Given the description of an element on the screen output the (x, y) to click on. 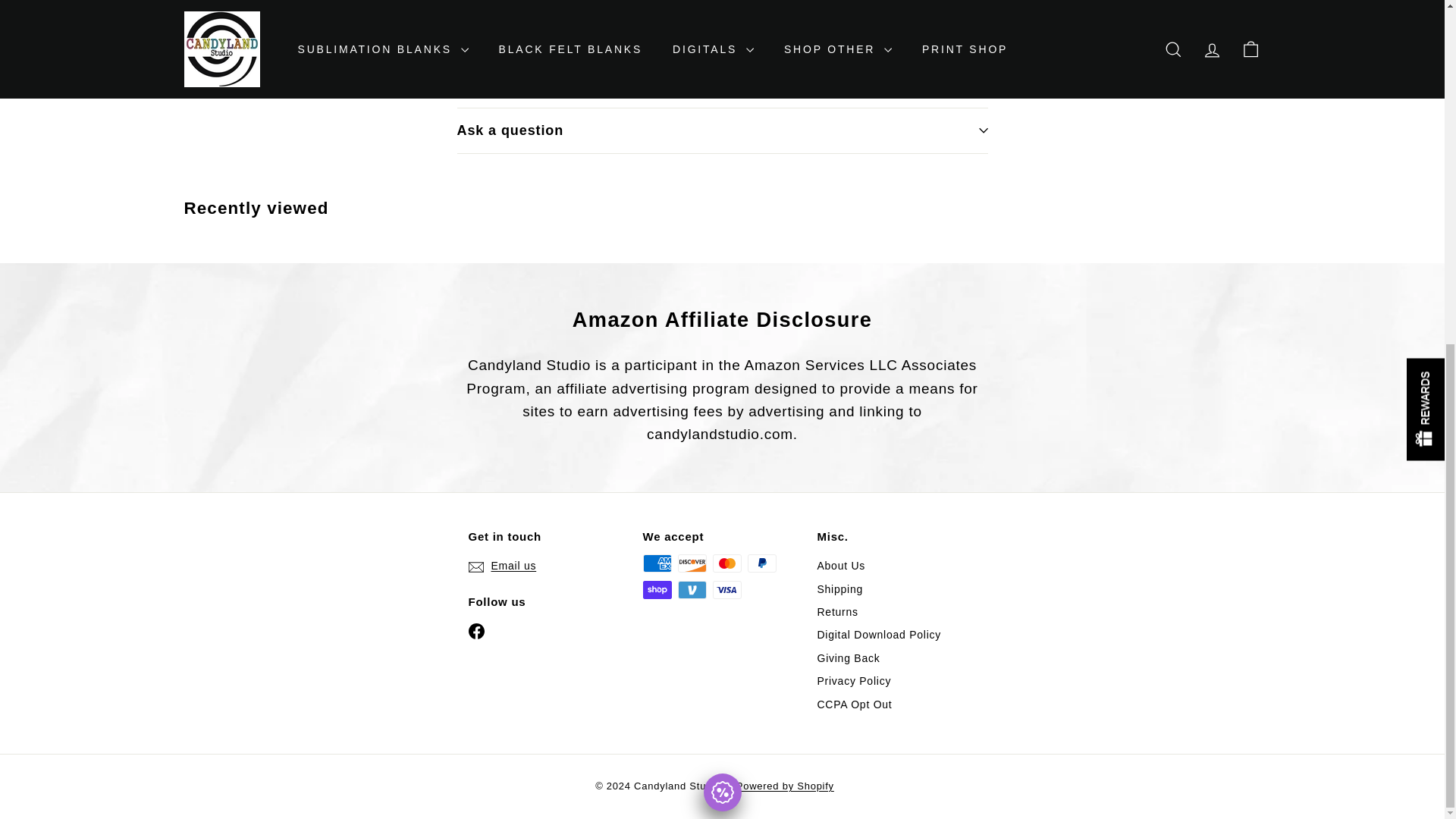
Discover (692, 563)
American Express (657, 563)
Mastercard (727, 563)
Visa (727, 589)
Candyland Studio on Facebook (476, 630)
Venmo (692, 589)
Shop Pay (657, 589)
PayPal (762, 563)
